Given the description of an element on the screen output the (x, y) to click on. 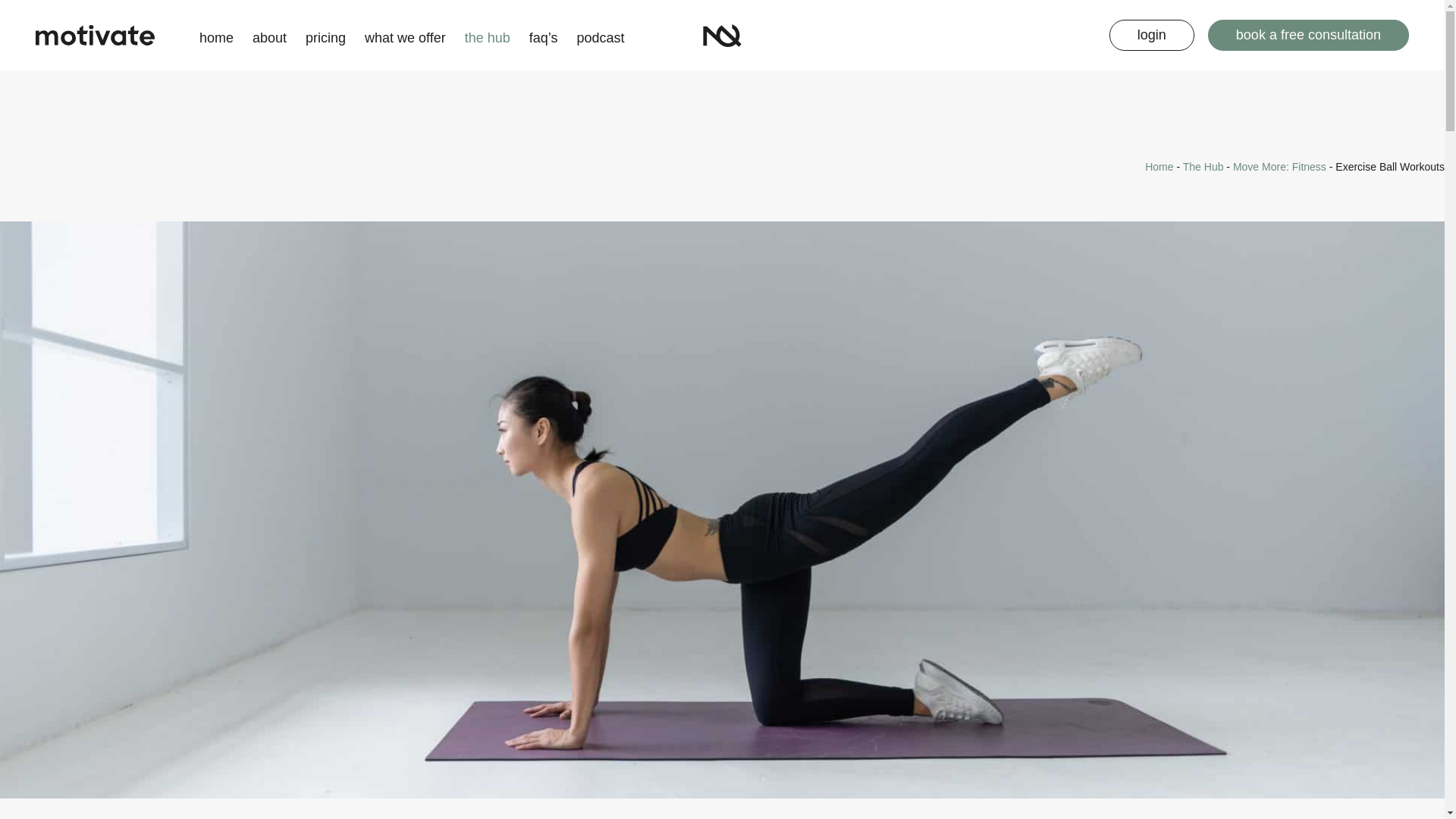
the hub (486, 35)
podcast (600, 35)
login (1151, 34)
Home (1158, 166)
book a free consultation (1308, 34)
what we offer (404, 35)
The Hub (1203, 166)
Move More: Fitness (1279, 166)
